Given the description of an element on the screen output the (x, y) to click on. 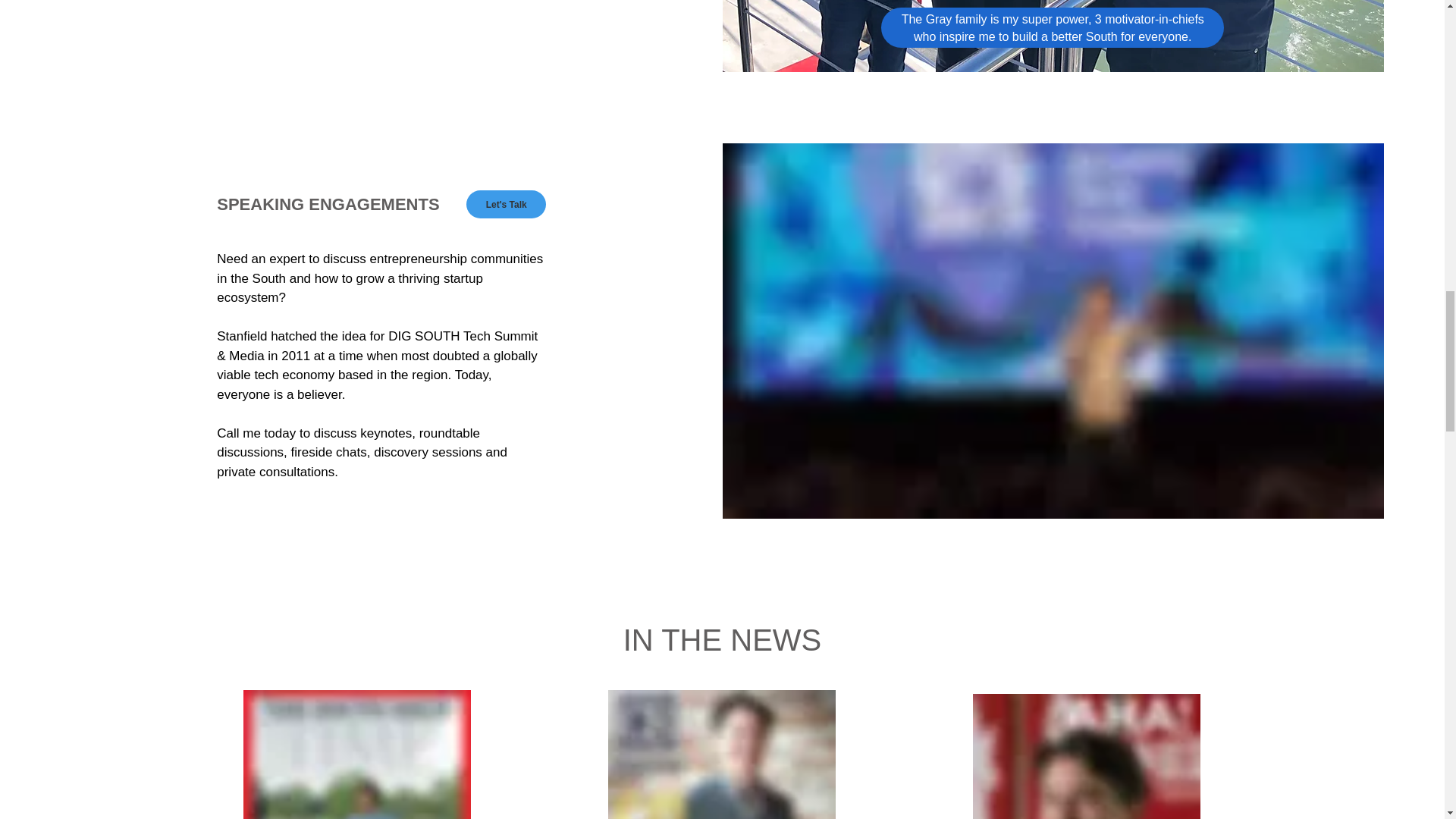
Let's Talk (505, 204)
